Given the description of an element on the screen output the (x, y) to click on. 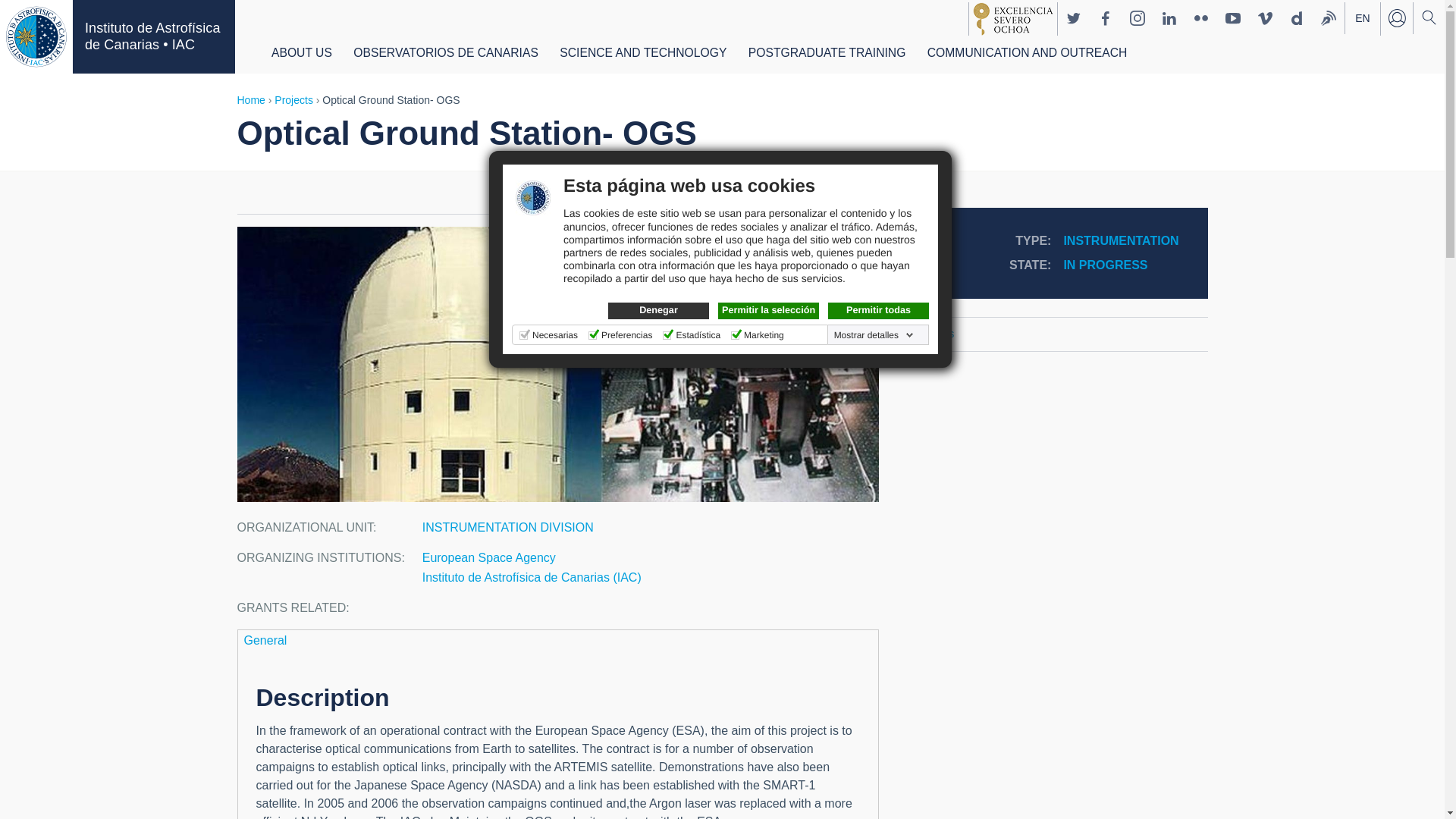
Permitir todas (878, 310)
Mostrar detalles (874, 335)
Denegar (658, 310)
